Given the description of an element on the screen output the (x, y) to click on. 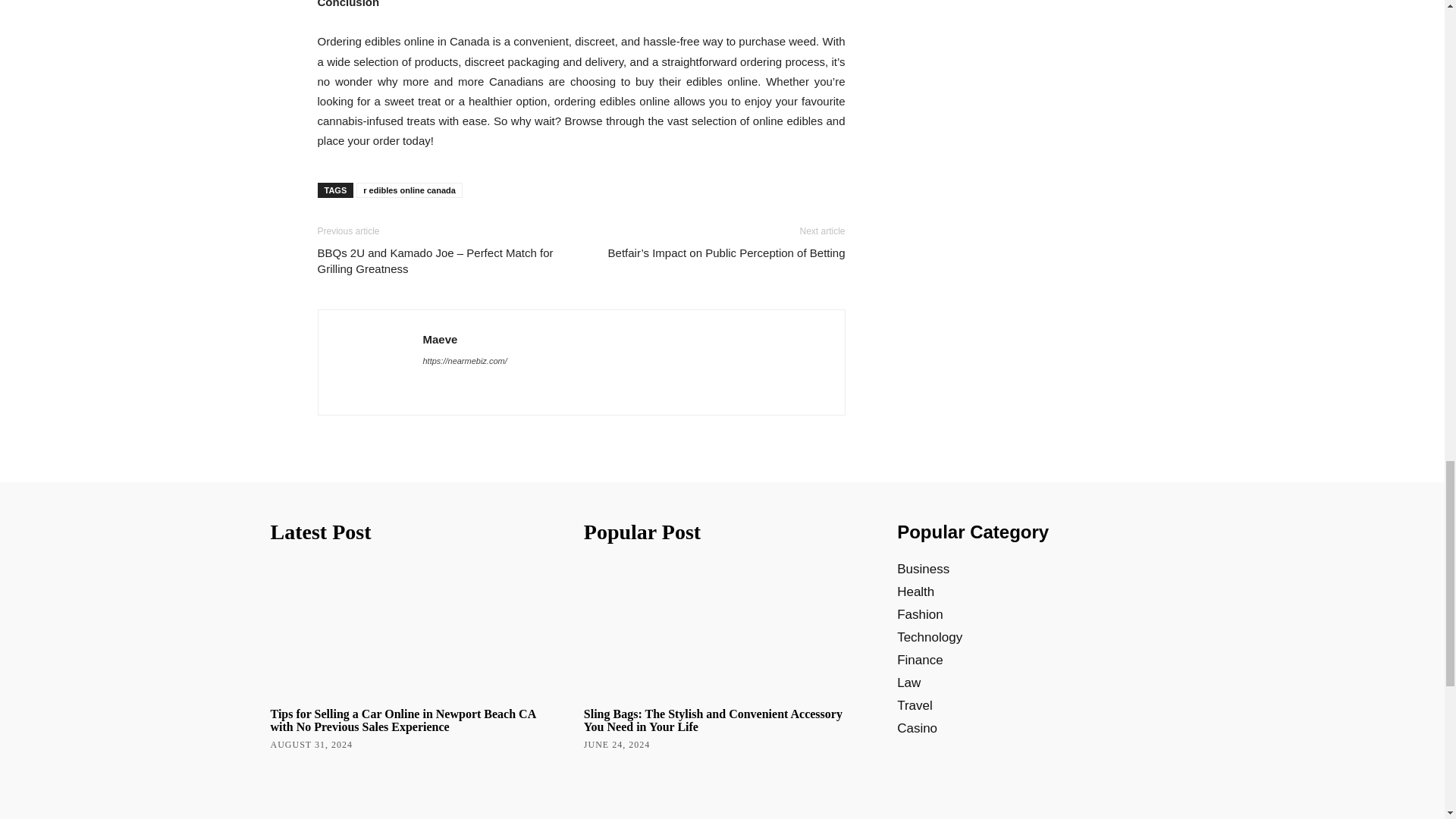
r edibles online canada (409, 190)
Maeve (440, 338)
